Given the description of an element on the screen output the (x, y) to click on. 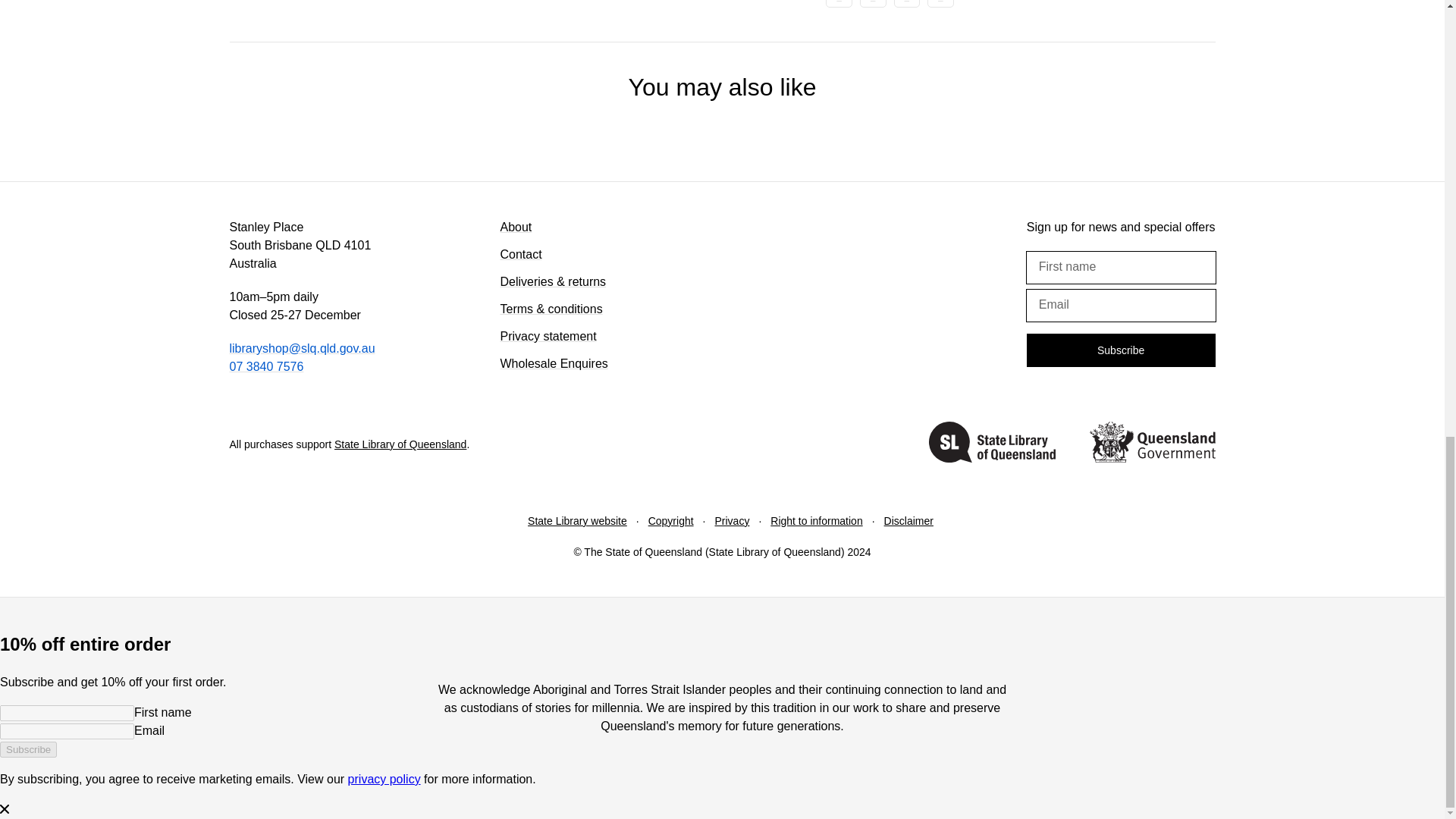
tel:07 3840 7576 (265, 366)
Go to Queensland Government homepage (1151, 444)
Go to Queensland State Library homepage (992, 444)
